Given the description of an element on the screen output the (x, y) to click on. 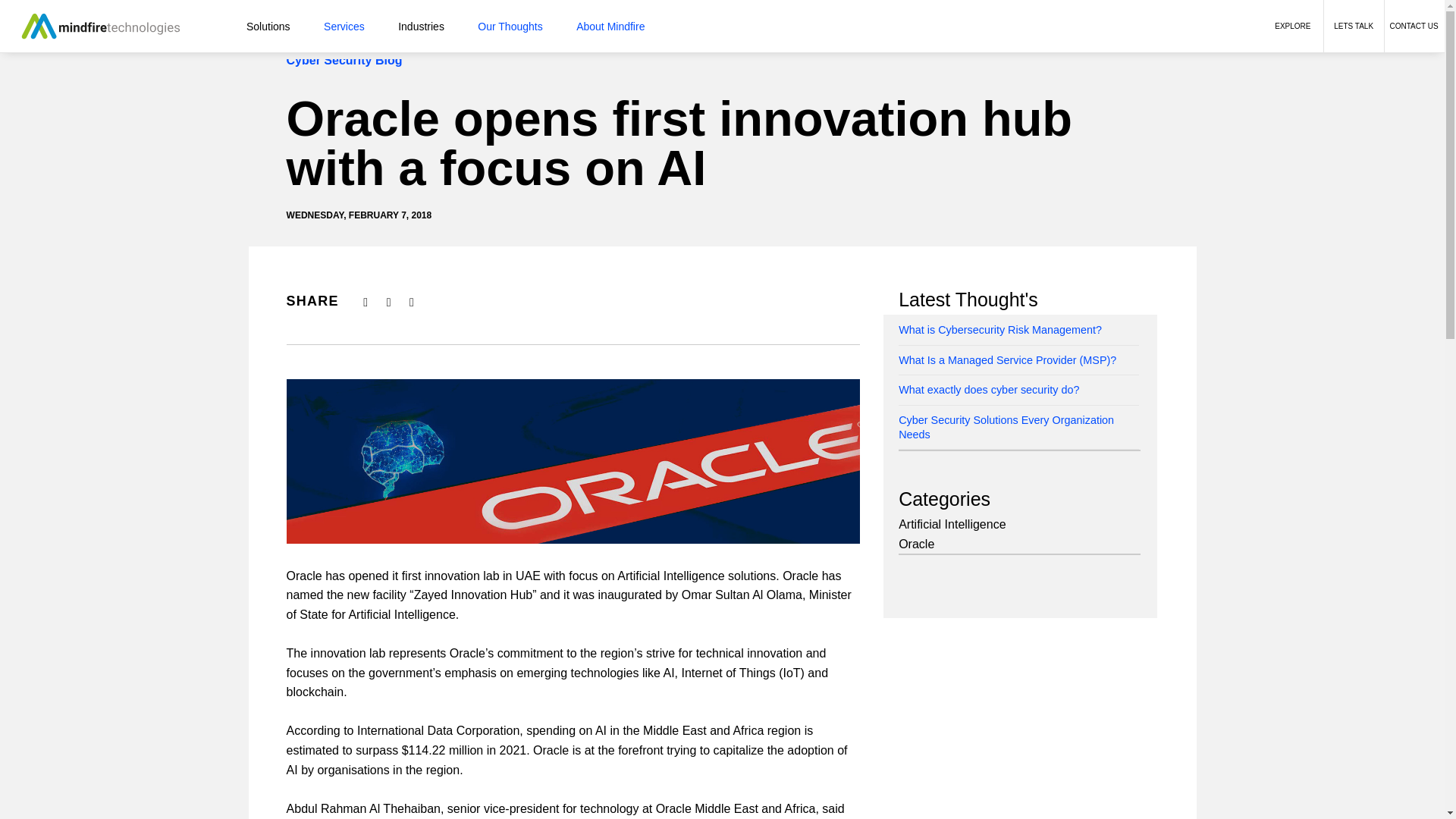
What exactly does cyber security do? (988, 389)
Services (344, 26)
What is Cybersecurity Risk Management? (1000, 329)
Cyber Security Solutions Every Organization Needs (1005, 427)
EXPLORE (1292, 26)
Our Thoughts (509, 26)
About Mindfire (610, 26)
LETS TALK (1353, 26)
CONTACT US (1413, 26)
Services (344, 26)
Cyber Security Blog (344, 61)
